Given the description of an element on the screen output the (x, y) to click on. 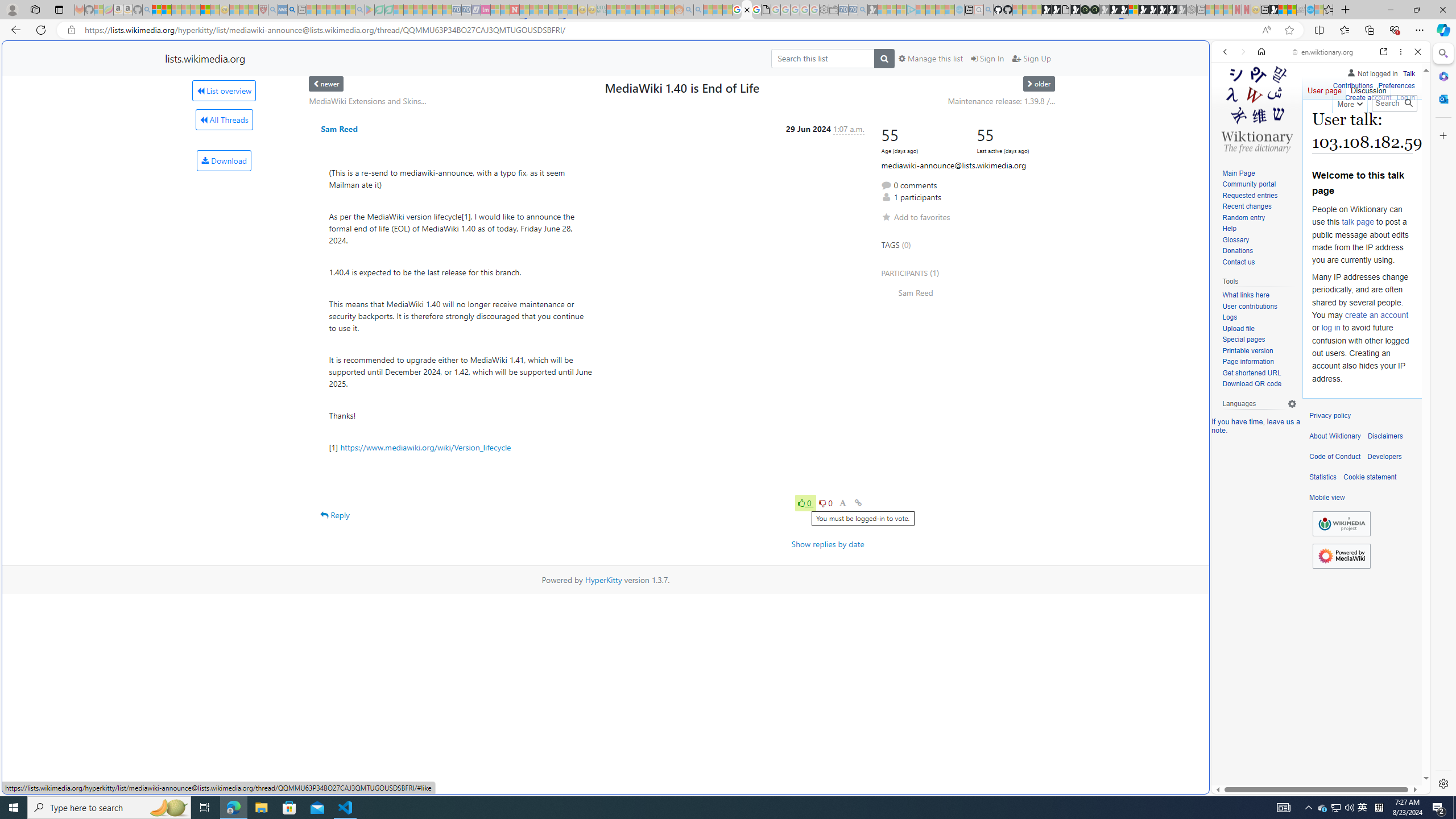
Printable version (1259, 351)
Go (1408, 102)
Sign in to your account (1133, 9)
Search this list (822, 58)
